Given the description of an element on the screen output the (x, y) to click on. 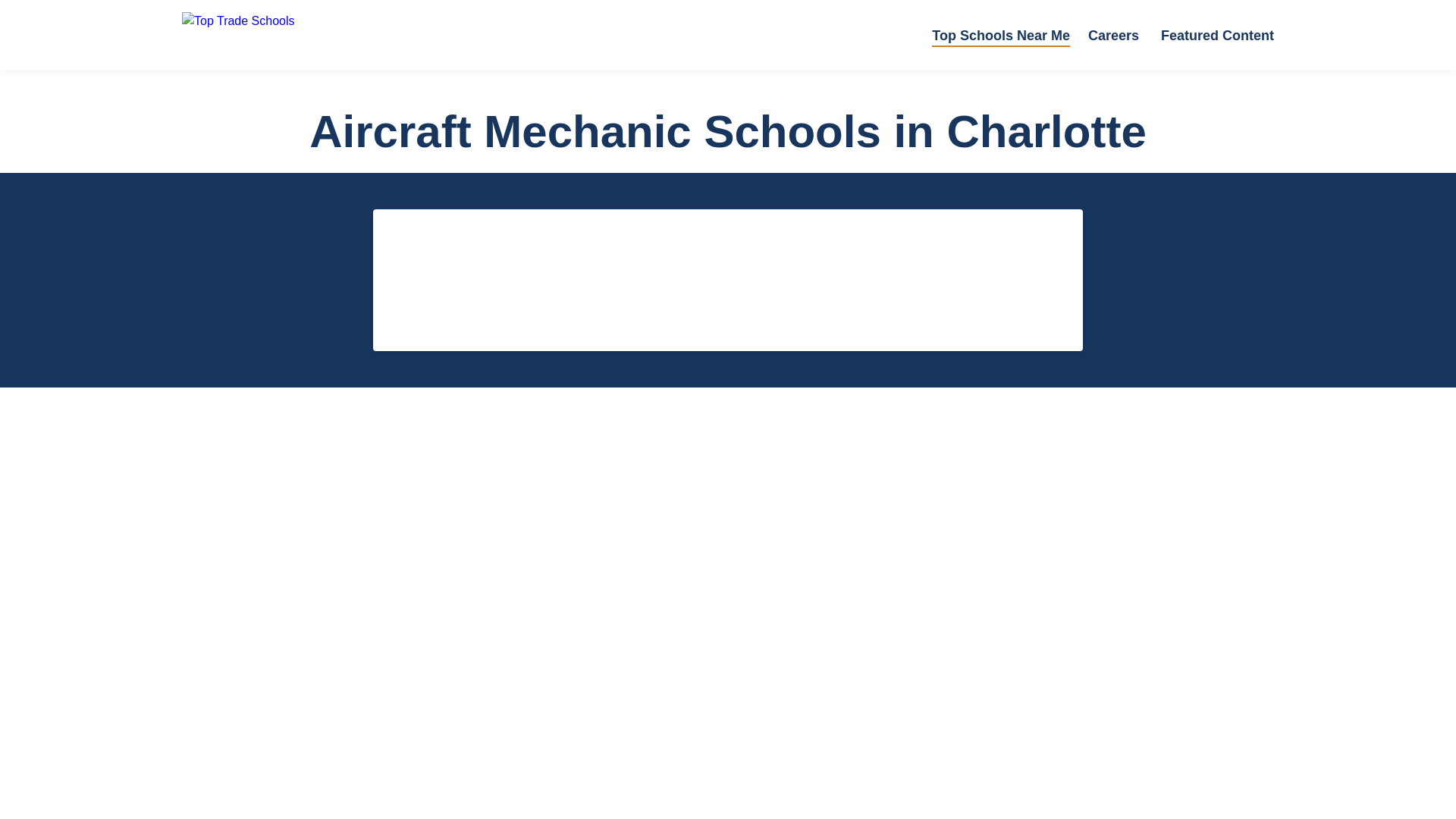
Top Schools Near Me (1000, 35)
Top Trade Schools (303, 34)
Featured Content (1217, 35)
Careers (1112, 35)
